Given the description of an element on the screen output the (x, y) to click on. 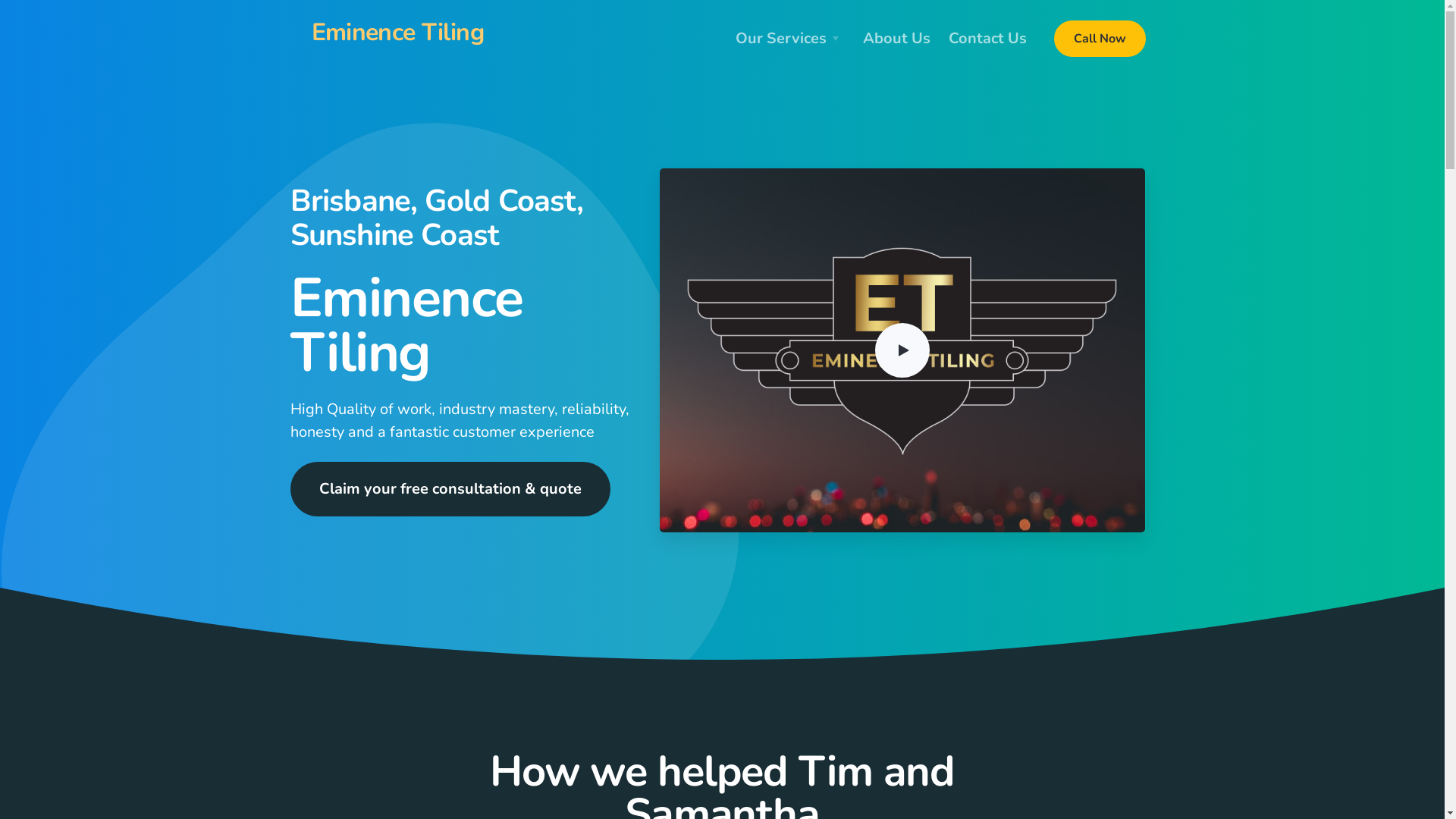
Our Services Element type: text (789, 38)
Call Now Element type: text (1099, 38)
Claim your free consultation & quote Element type: text (449, 488)
Contact Us Element type: text (986, 38)
About Us Element type: text (896, 38)
Eminence Tiling Element type: text (396, 32)
